Given the description of an element on the screen output the (x, y) to click on. 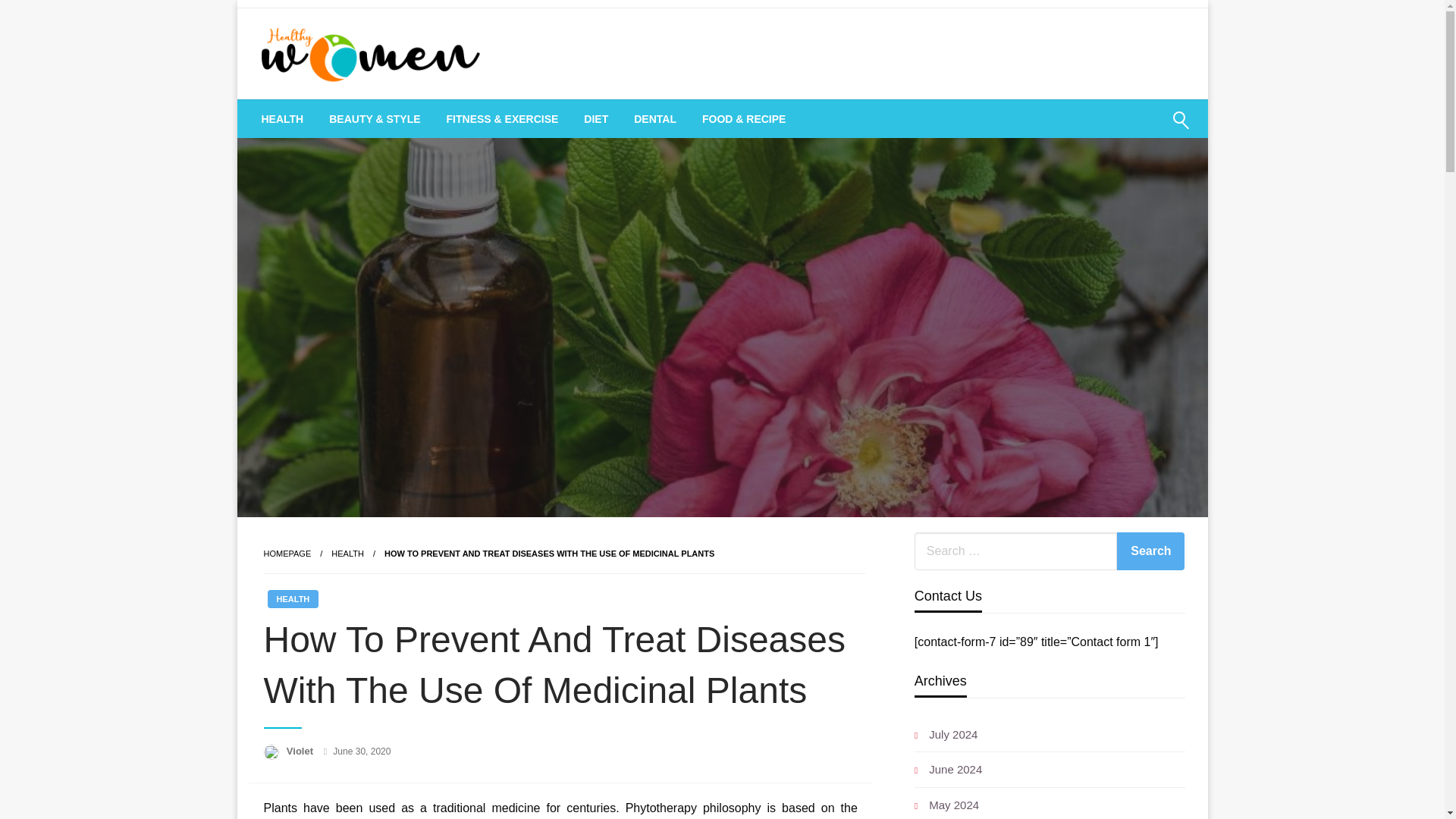
HEALTH (292, 598)
June 30, 2020 (361, 751)
DENTAL (654, 118)
Violet (300, 750)
Healthy Women X (378, 118)
HOMEPAGE (287, 552)
Search (1150, 551)
DIET (595, 118)
Search (1150, 551)
HEALTH (282, 118)
Violet (300, 750)
Health (347, 552)
Search (1144, 129)
HEALTH (347, 552)
